Given the description of an element on the screen output the (x, y) to click on. 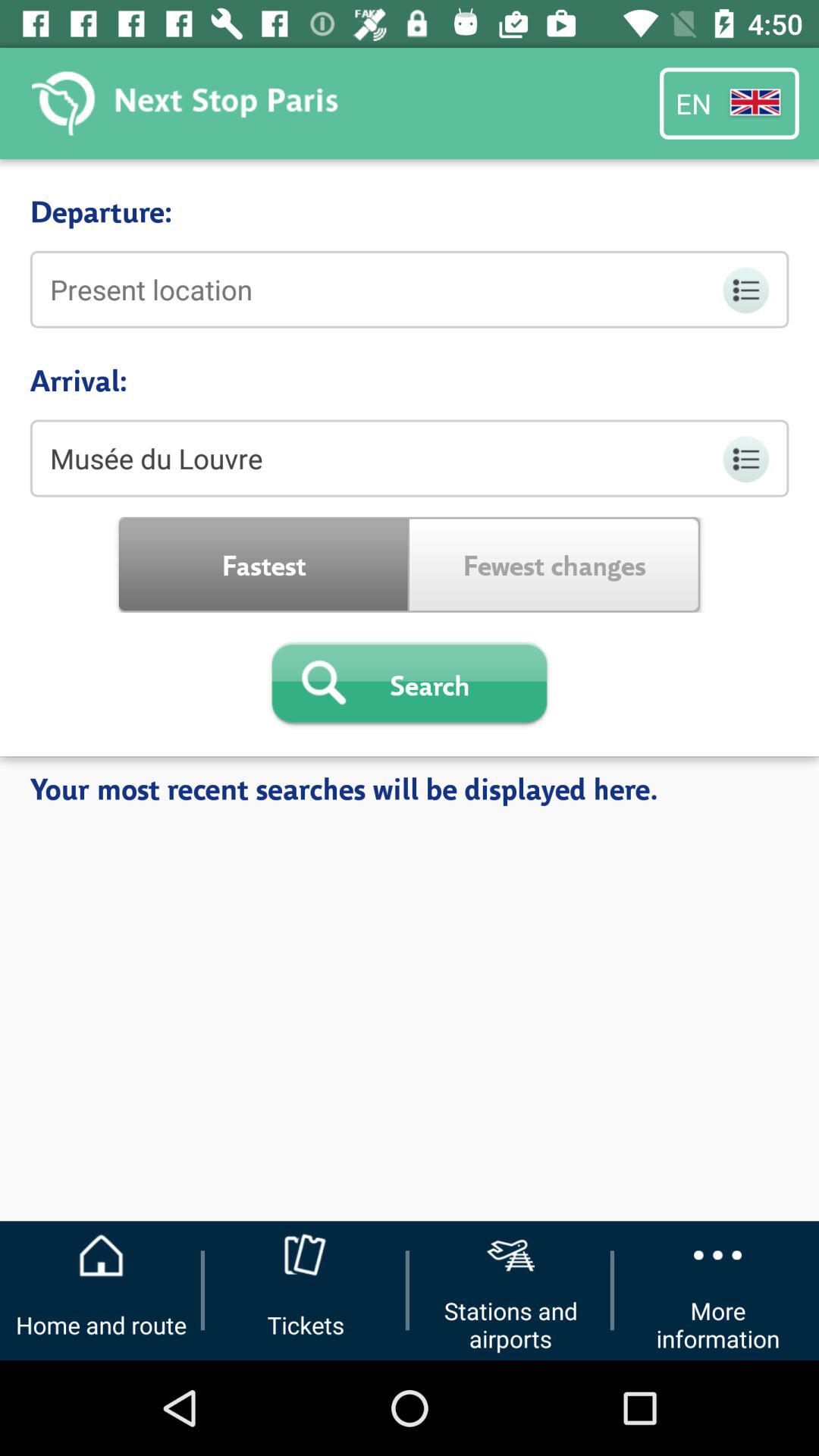
launch item below the arrival: (409, 458)
